Given the description of an element on the screen output the (x, y) to click on. 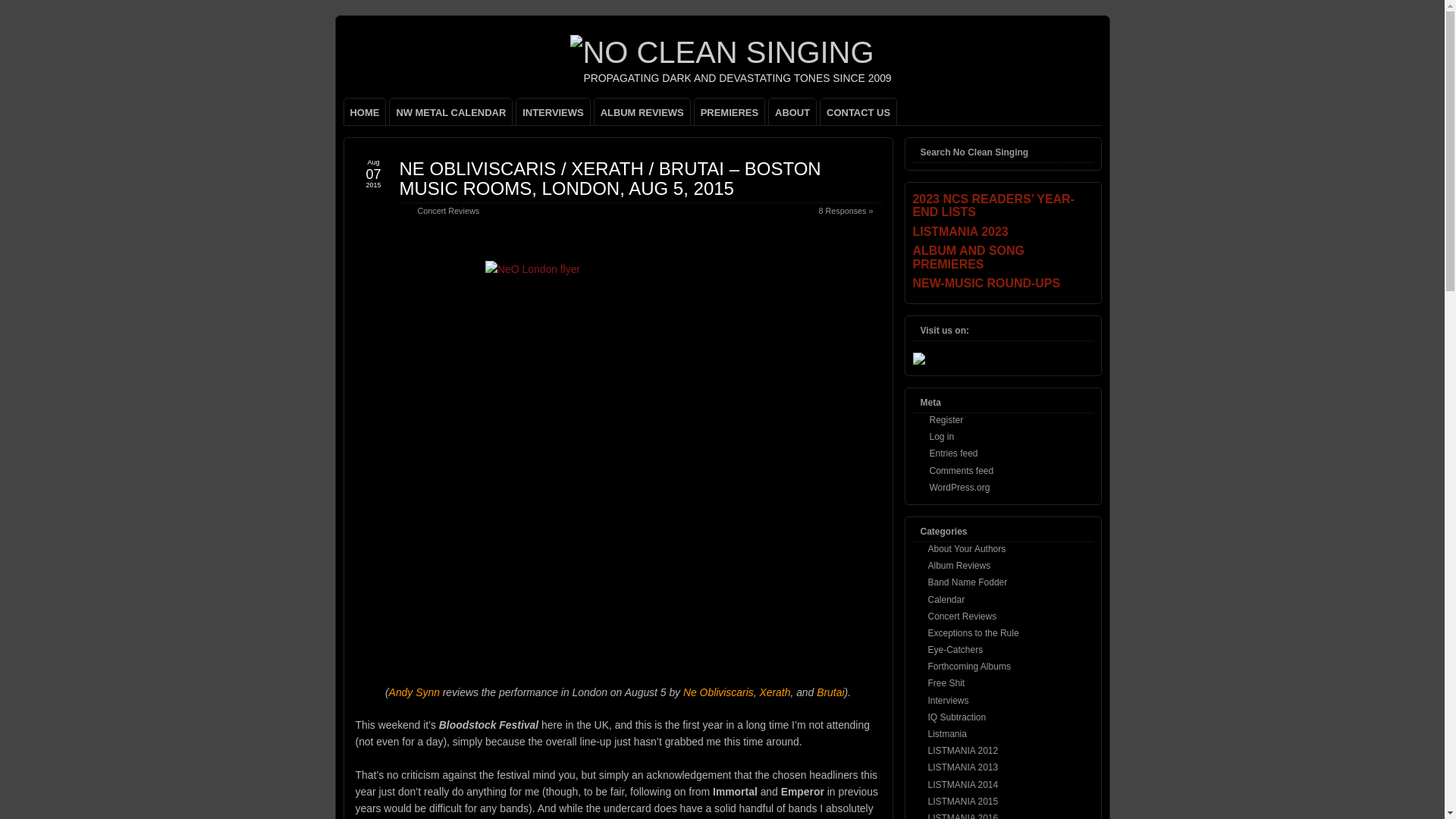
Free Shit (946, 683)
WordPress.org (960, 487)
Comments feed (962, 470)
INTERVIEWS (552, 111)
ABOUT (791, 111)
Concert Reviews (962, 615)
ALBUM AND SONG PREMIERES (1002, 257)
Album Reviews (959, 565)
Concert Reviews (447, 210)
Listmania (947, 733)
